Given the description of an element on the screen output the (x, y) to click on. 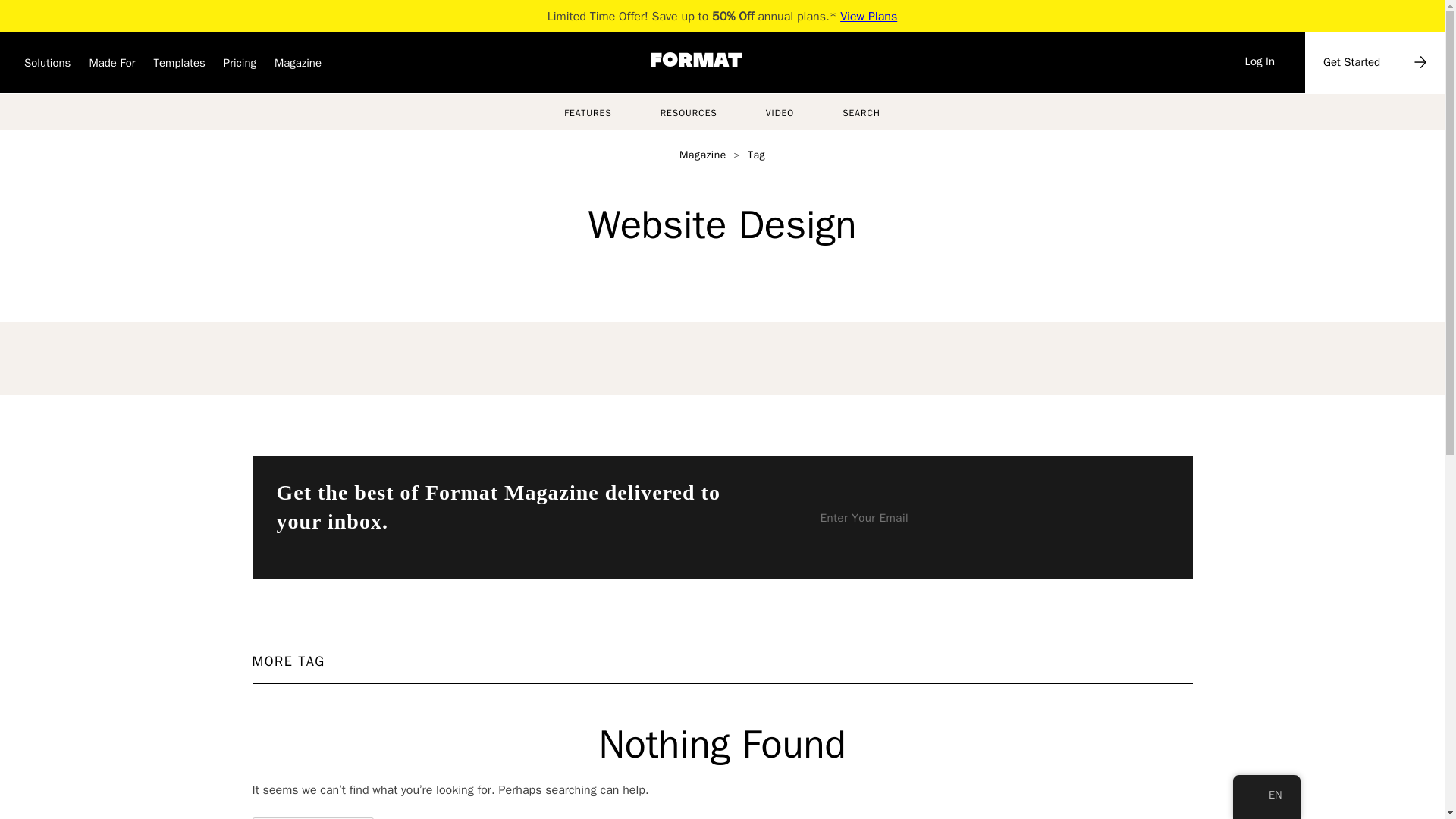
Templates (179, 66)
English (1257, 795)
View Plans (868, 16)
Pricing (240, 66)
Magazine (298, 66)
